Given the description of an element on the screen output the (x, y) to click on. 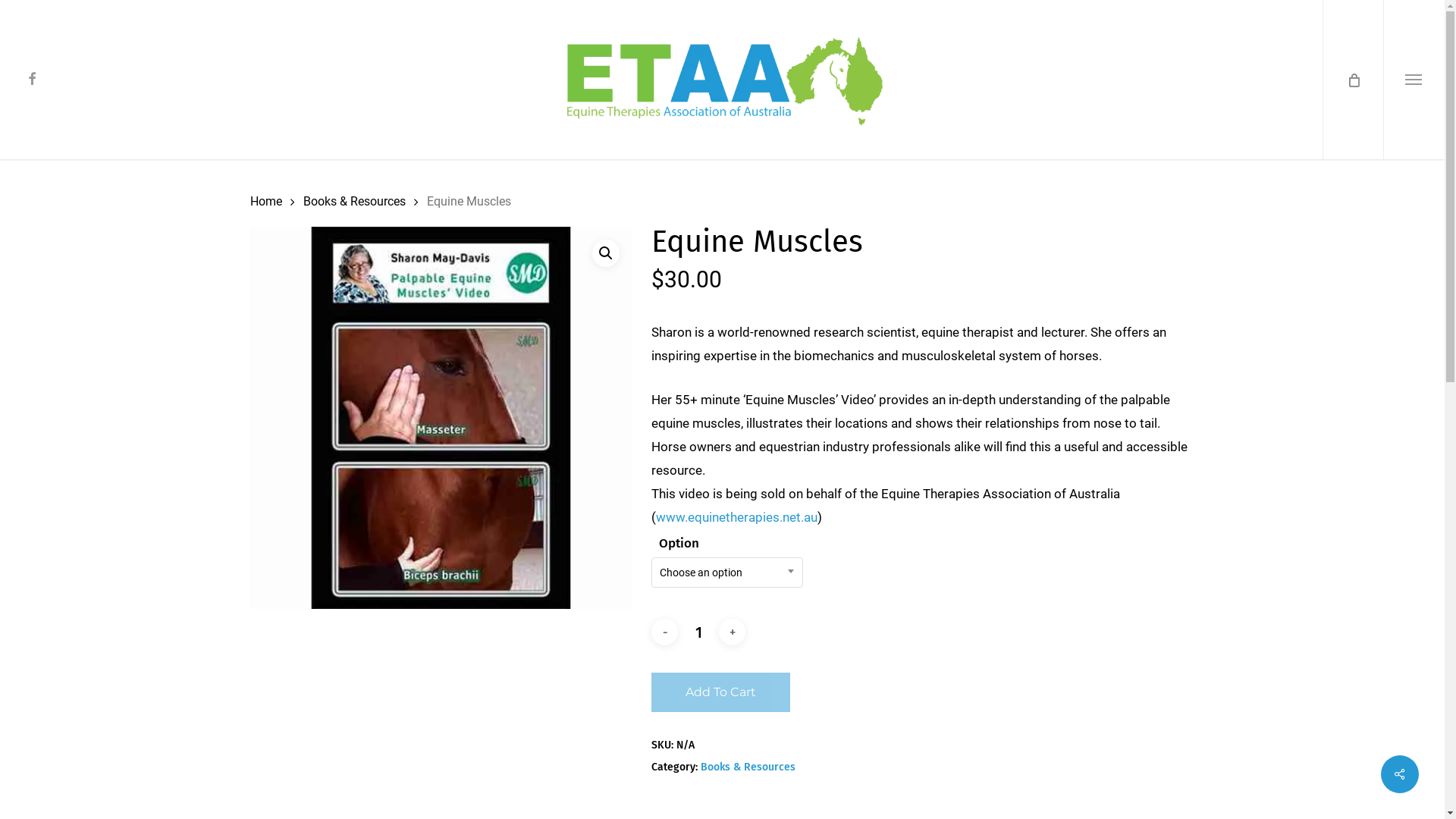
Menu Element type: text (1408, 7)
www.equinetherapies.net.au Element type: text (736, 516)
Books & Resources Element type: text (354, 201)
Home Element type: text (266, 201)
Menu Element type: text (1413, 79)
Add To Cart Element type: text (720, 691)
facebook Element type: text (31, 79)
Books & Resources Element type: text (747, 766)
